Given the description of an element on the screen output the (x, y) to click on. 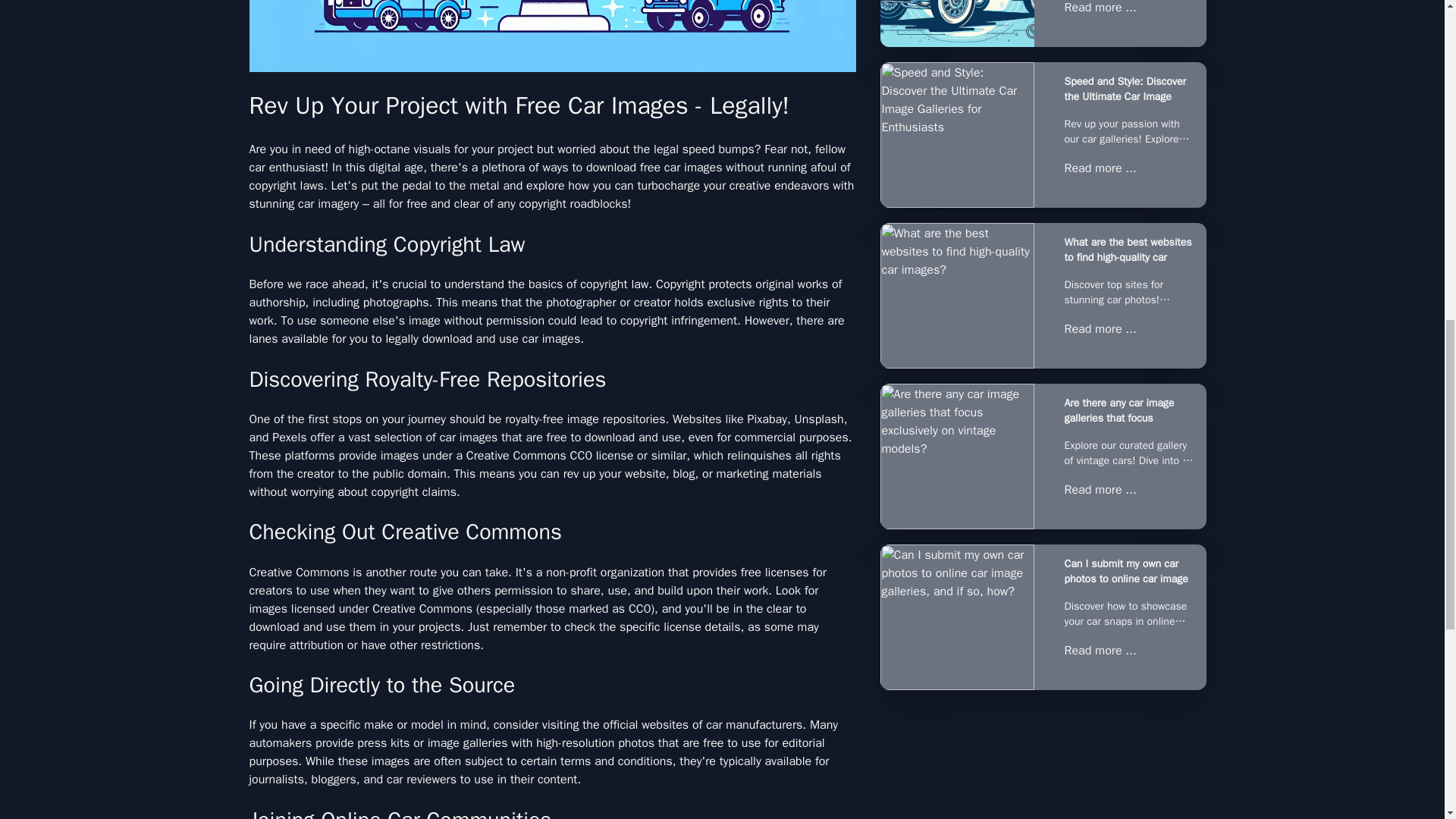
What are the best websites to find high-quality car images? (956, 295)
What are the best websites to find high-quality car images? (1128, 250)
